Given the description of an element on the screen output the (x, y) to click on. 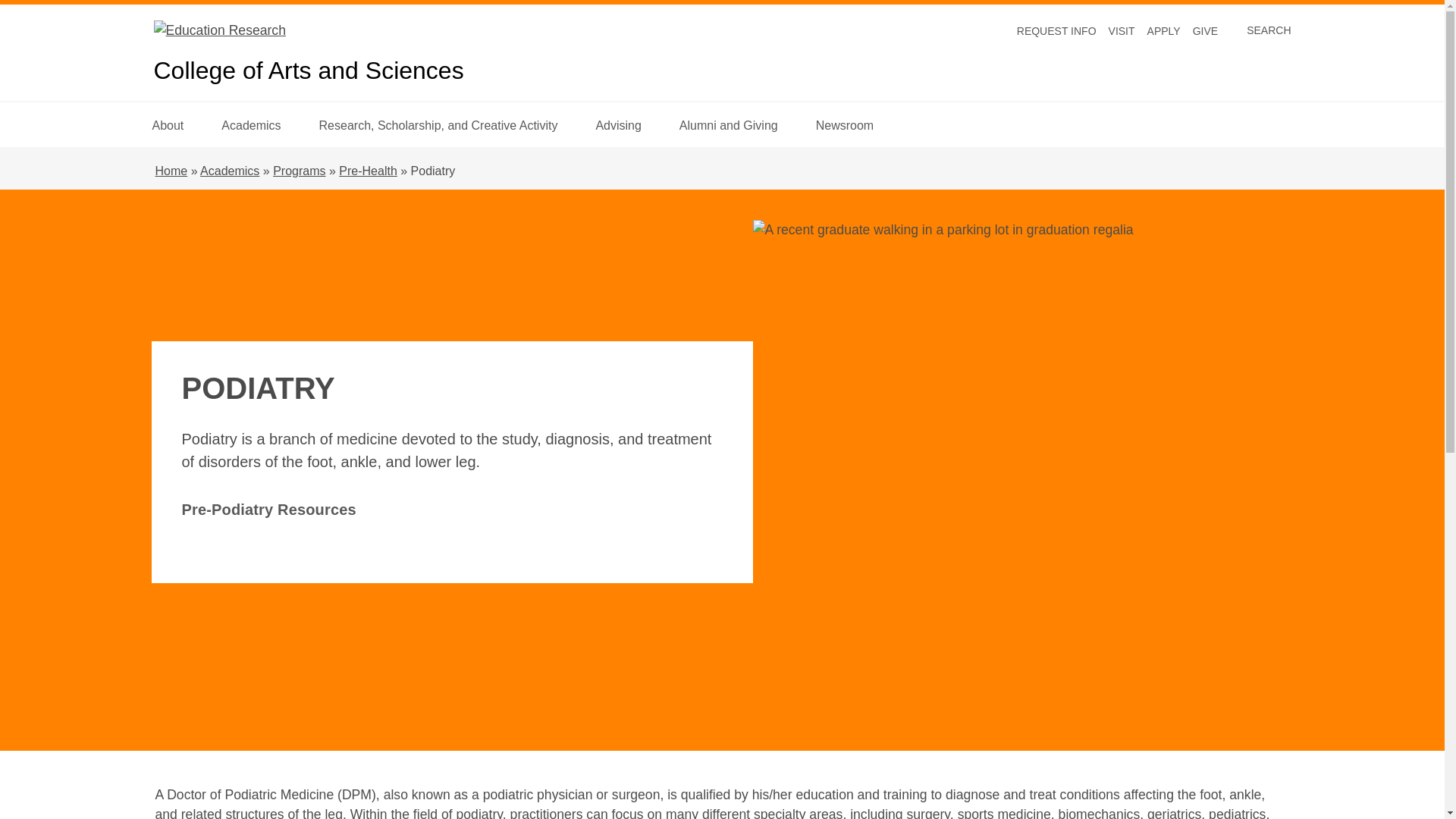
REQUEST INFO (1253, 30)
College of Arts and Sciences (1056, 30)
VISIT (307, 70)
About (1121, 30)
APPLY (167, 124)
GIVE (1163, 30)
Academics (1204, 30)
